Given the description of an element on the screen output the (x, y) to click on. 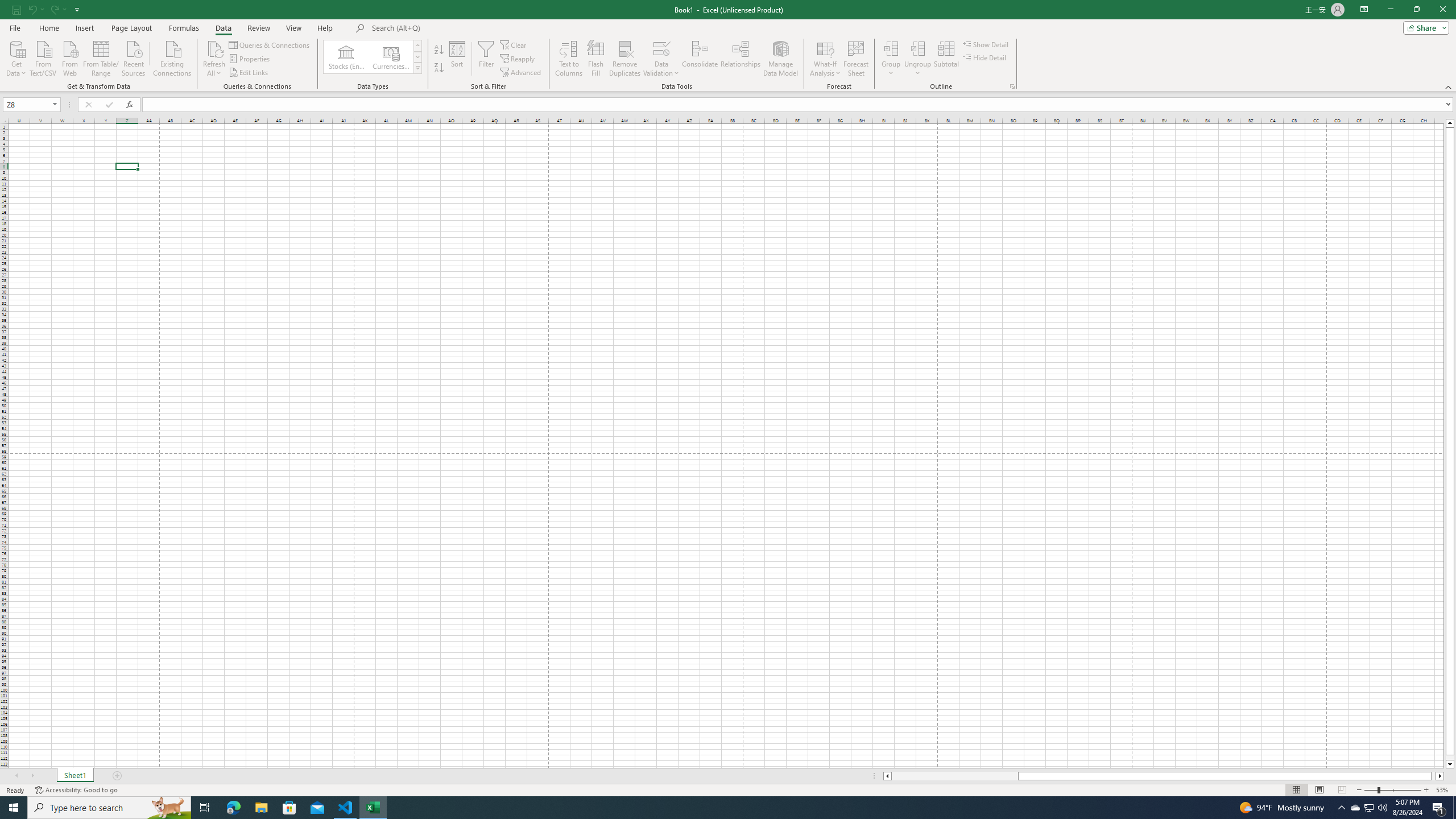
Subtotal (946, 58)
AutomationID: ConvertToLinkedEntity (372, 56)
Get Data (16, 57)
Reapply (517, 58)
